Given the description of an element on the screen output the (x, y) to click on. 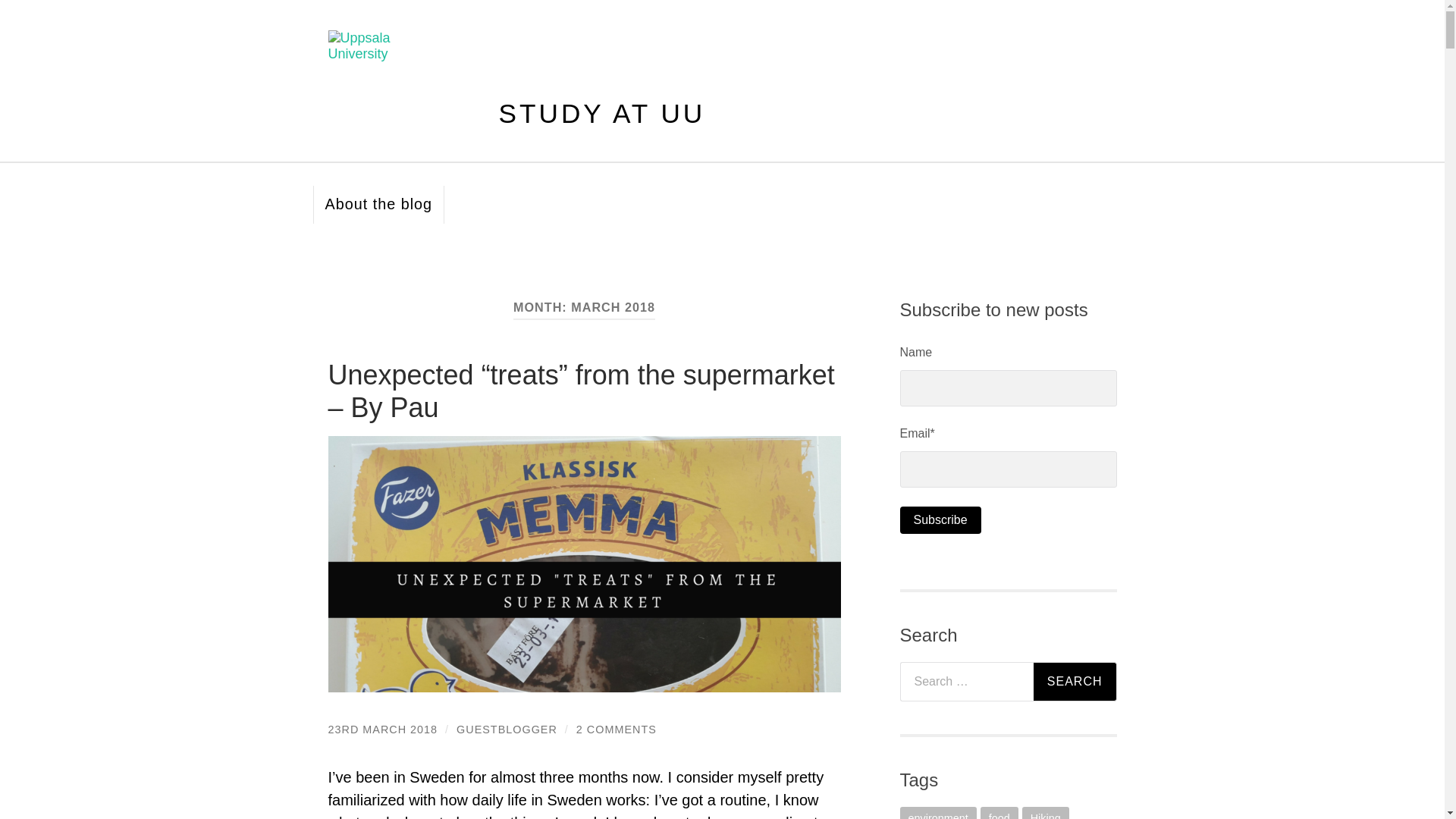
Posts by Guestblogger (507, 729)
Search (1074, 681)
About the blog (378, 204)
23RD MARCH 2018 (382, 729)
STUDY AT UU (602, 112)
2 COMMENTS (616, 729)
Subscribe (939, 519)
GUESTBLOGGER (507, 729)
Search (1074, 681)
